Given the description of an element on the screen output the (x, y) to click on. 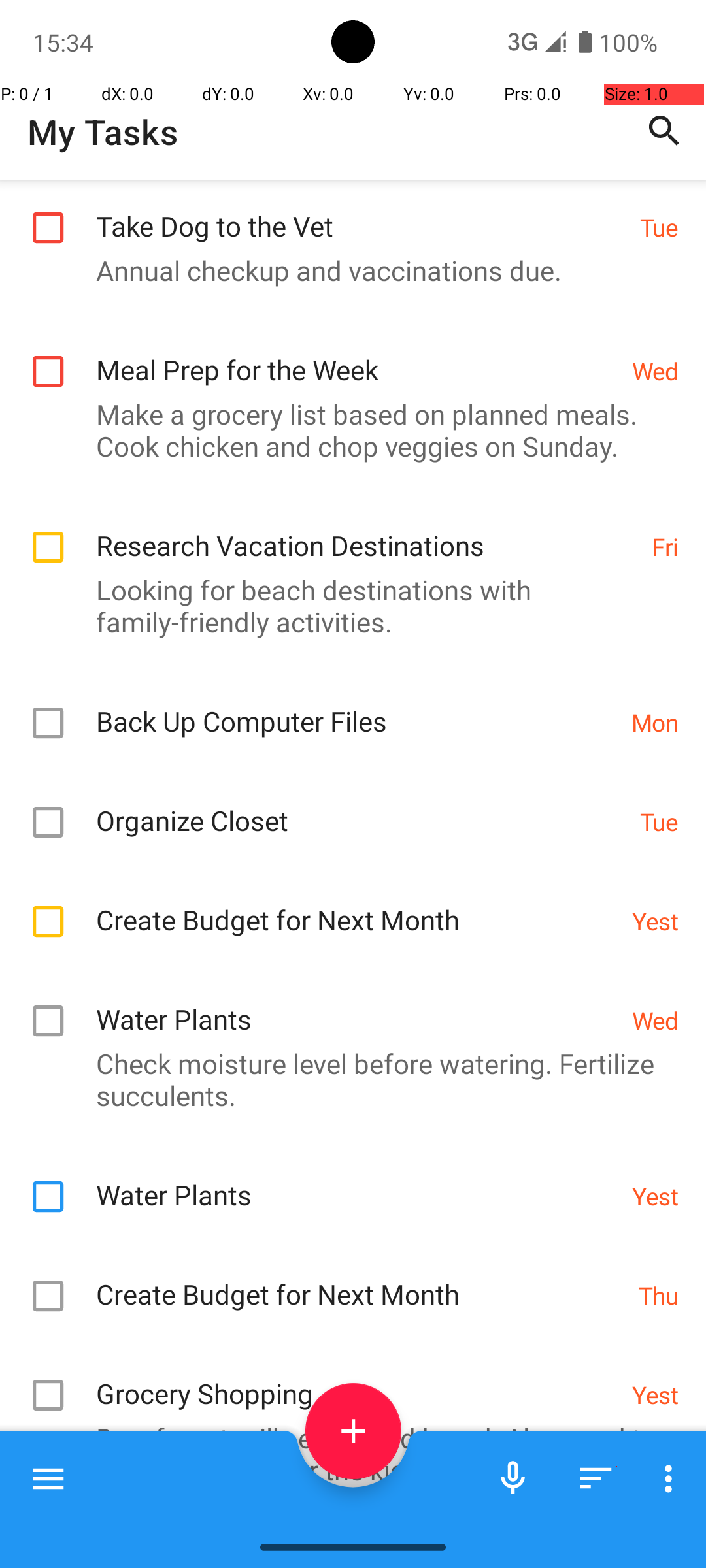
My Tasks Element type: android.widget.TextView (102, 131)
Sort Element type: android.widget.Button (595, 1478)
Take Dog to the Vet Element type: android.widget.TextView (361, 211)
Annual checkup and vaccinations due. Element type: android.widget.TextView (346, 269)
Tue Element type: android.widget.TextView (659, 226)
Meal Prep for the Week Element type: android.widget.TextView (357, 355)
Make a grocery list based on planned meals. Cook chicken and chop veggies on Sunday. Element type: android.widget.TextView (346, 429)
Wed Element type: android.widget.TextView (655, 370)
Research Vacation Destinations Element type: android.widget.TextView (367, 531)
Looking for beach destinations with family-friendly activities. Element type: android.widget.TextView (346, 605)
Fri Element type: android.widget.TextView (665, 546)
Back Up Computer Files Element type: android.widget.TextView (356, 706)
Mon Element type: android.widget.TextView (654, 721)
Organize Closet Element type: android.widget.TextView (361, 806)
Create Budget for Next Month Element type: android.widget.TextView (357, 905)
Yest Element type: android.widget.TextView (655, 920)
Water Plants Element type: android.widget.TextView (357, 1004)
Check moisture level before watering. Fertilize succulents. Element type: android.widget.TextView (346, 1078)
Thu Element type: android.widget.TextView (658, 1294)
Grocery Shopping Element type: android.widget.TextView (357, 1379)
Don	 forget milk, eggs, and bread. Also need to pick up snacks for the kids. Element type: android.widget.TextView (346, 1453)
Read 'The Martian' Element type: android.widget.TextView (357, 1524)
